Given the description of an element on the screen output the (x, y) to click on. 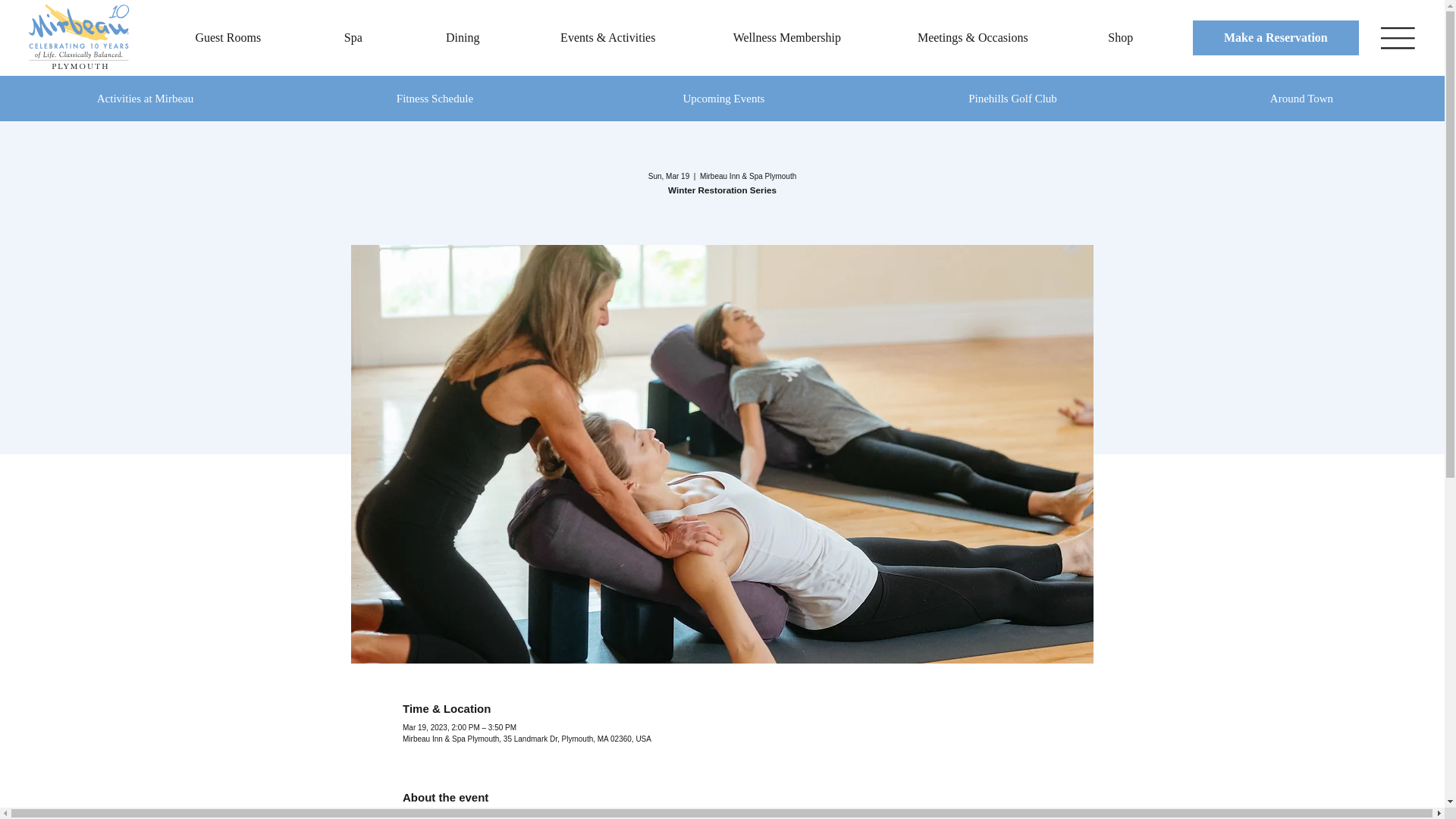
Activities at Mirbeau (144, 98)
Upcoming Events (722, 98)
Shop (1119, 37)
Dining (462, 37)
Fitness Schedule (433, 98)
Guest Rooms (227, 37)
Pinehills Golf Club (1011, 98)
Make a Reservation (1275, 37)
Wellness Membership (786, 37)
click here (650, 815)
Spa (352, 37)
